Given the description of an element on the screen output the (x, y) to click on. 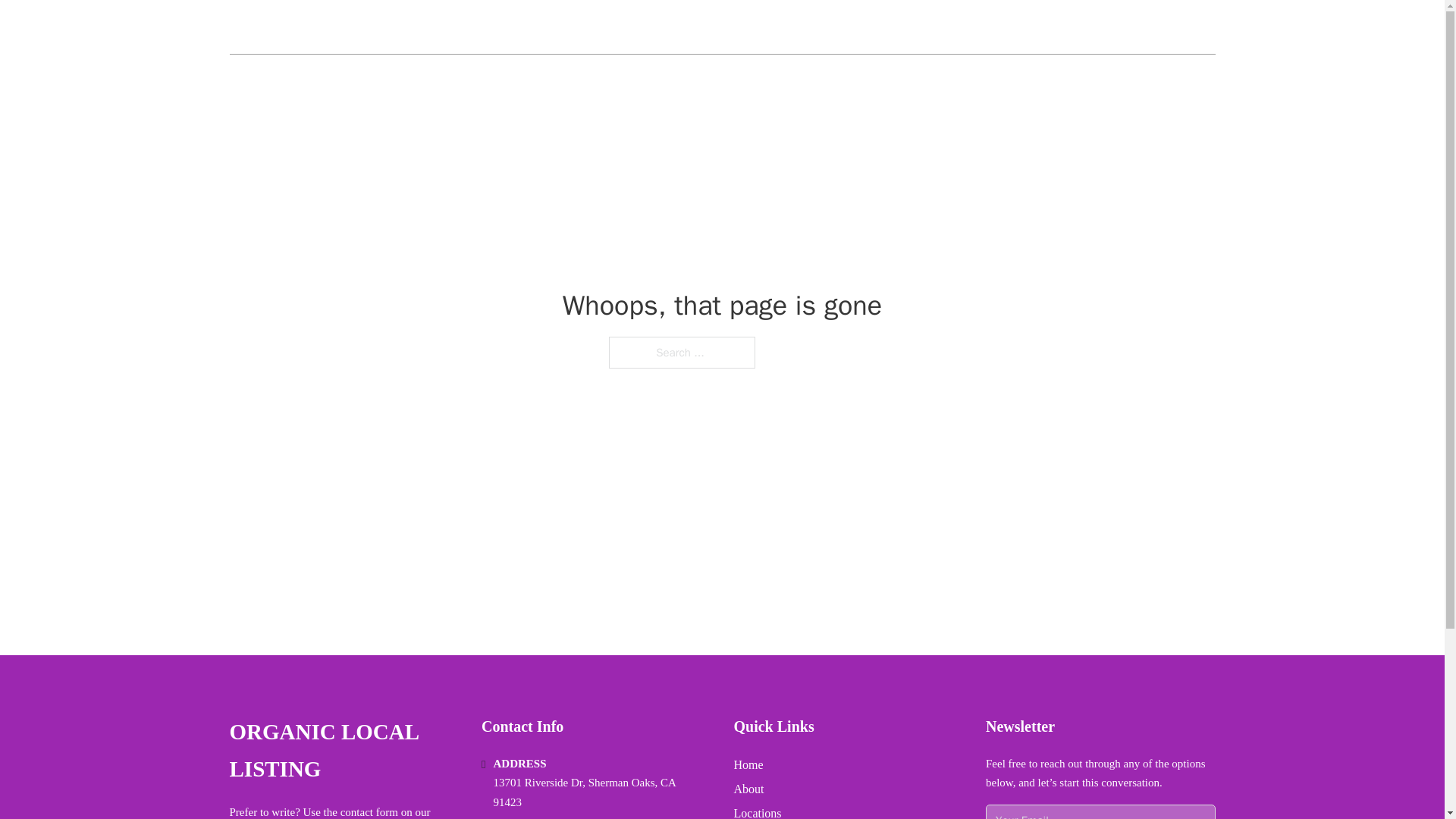
About (748, 788)
ORGANIC LOCAL LISTING (343, 750)
LOCATIONS (1105, 27)
ORGANIC LOCAL LISTING (346, 26)
Locations (757, 811)
HOME (1032, 27)
Home (747, 764)
